Given the description of an element on the screen output the (x, y) to click on. 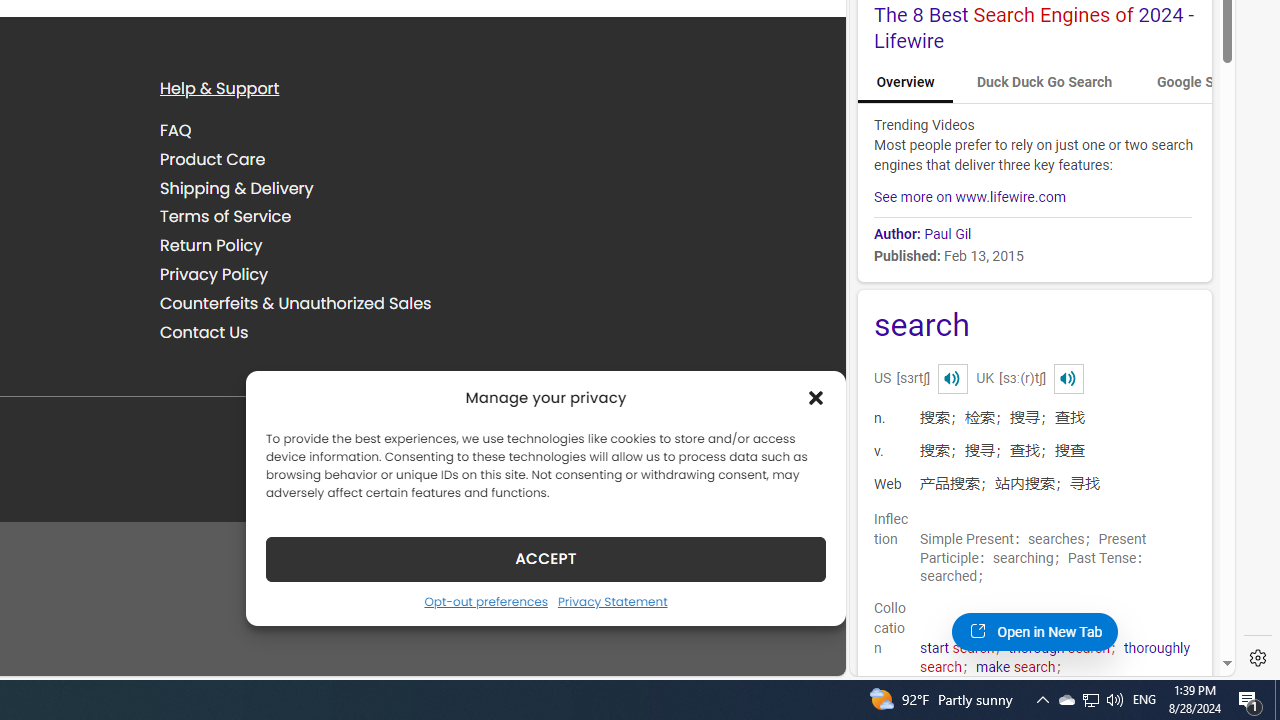
Go to top (804, 647)
thoroughly search (1055, 658)
Counterfeits & Unauthorized Sales (296, 302)
Terms of Service (225, 216)
Google Search (1202, 82)
Contact Us (325, 332)
Author: Paul Gil (1032, 230)
Class: cmplz-close (815, 397)
Class: dict_pnIcon rms_img (1067, 377)
Contact Us (204, 331)
ACCEPT (545, 558)
Duck Duck Go Search (1044, 82)
Product Care (213, 158)
thorough search (1058, 648)
